Given the description of an element on the screen output the (x, y) to click on. 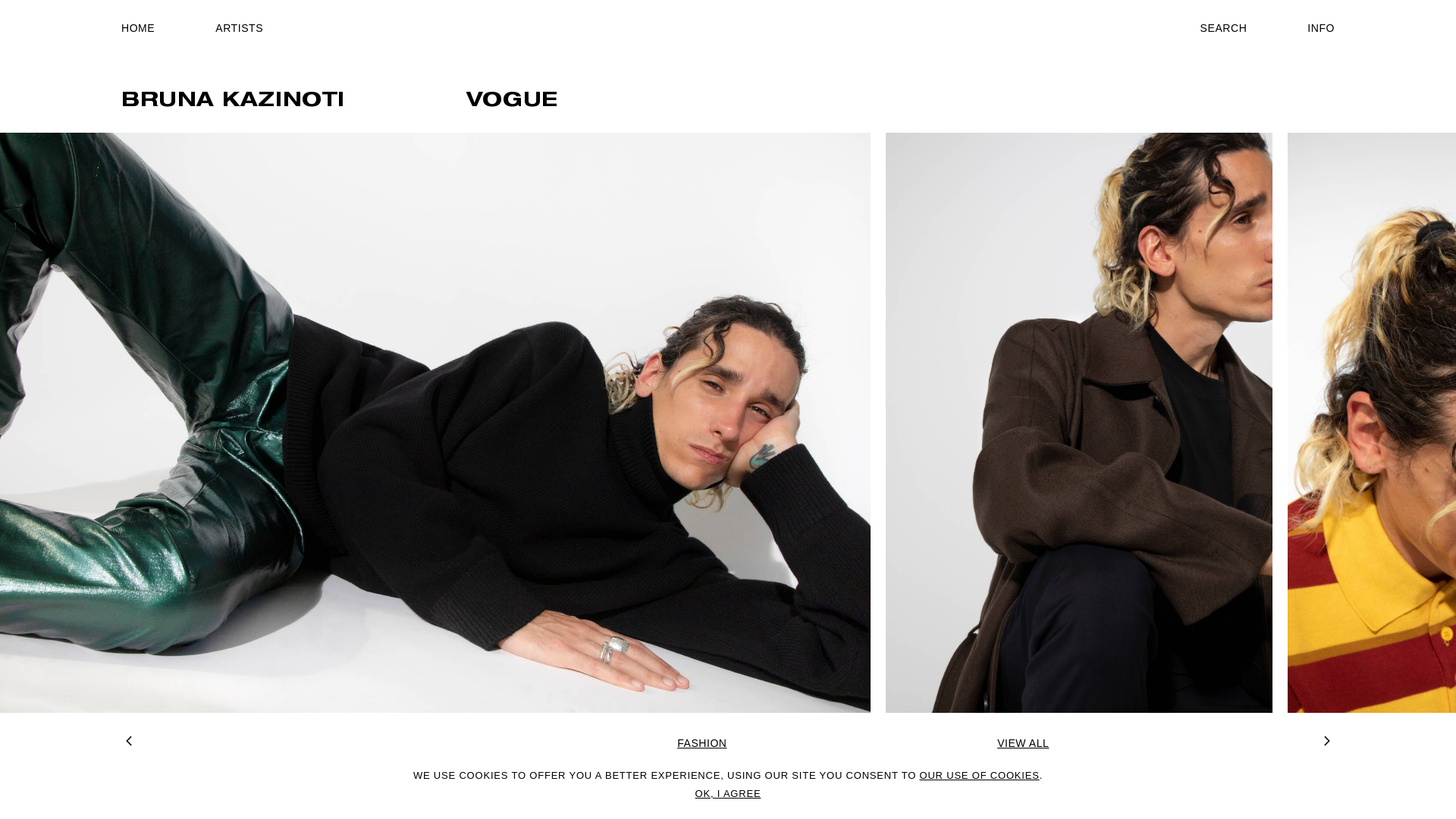
VIEW ALL Element type: text (1022, 743)
SEARCH Element type: text (1223, 27)
HOME Element type: text (137, 27)
OUR USE OF COOKIES Element type: text (978, 775)
BRUNA KAZINOTI Element type: text (233, 101)
FASHION Element type: text (701, 742)
INFO Element type: text (1320, 27)
ARTISTS Element type: text (239, 27)
